Given the description of an element on the screen output the (x, y) to click on. 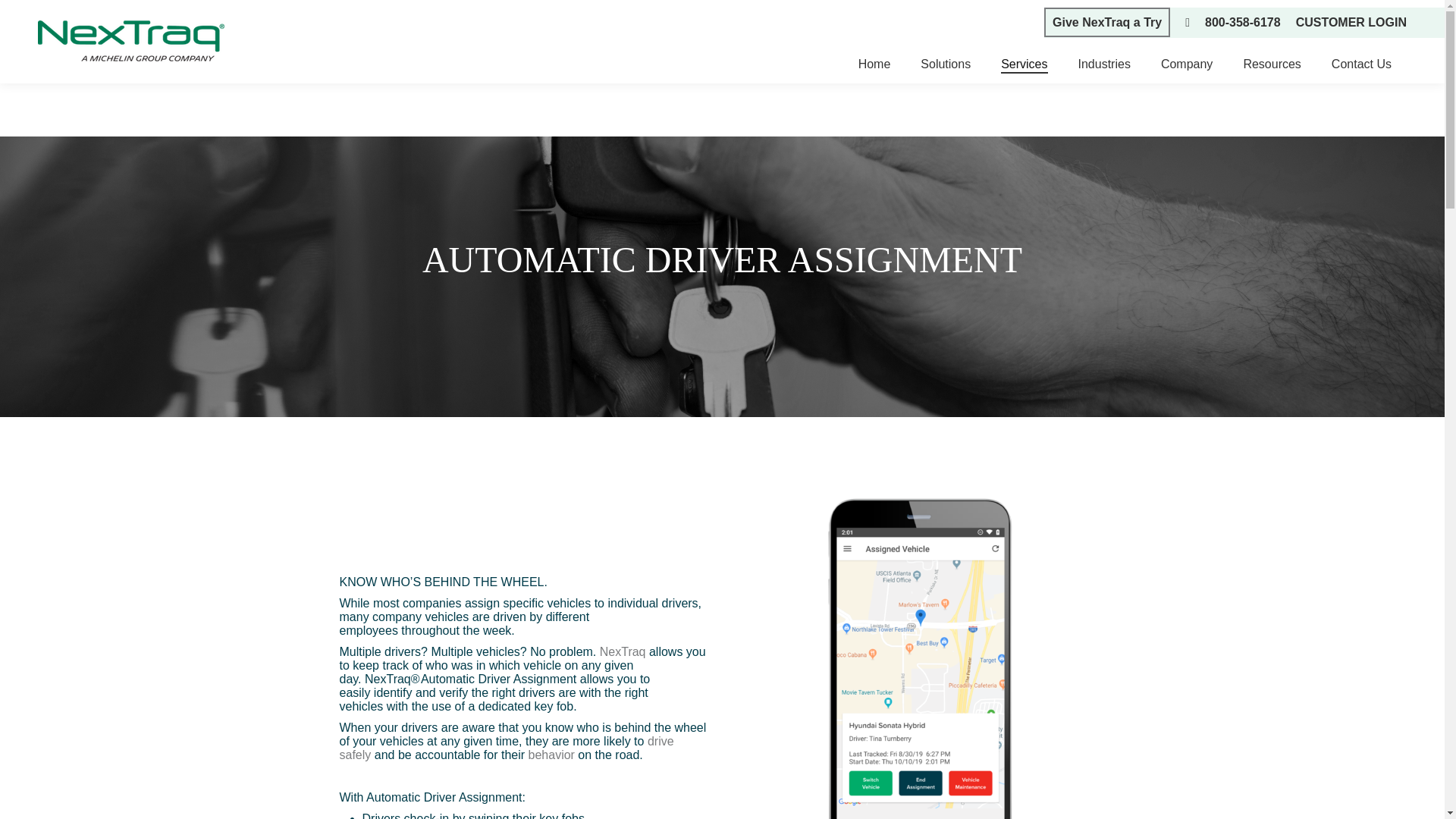
Industries (1103, 64)
Services (1023, 64)
Solutions (945, 64)
Home (874, 64)
